Given the description of an element on the screen output the (x, y) to click on. 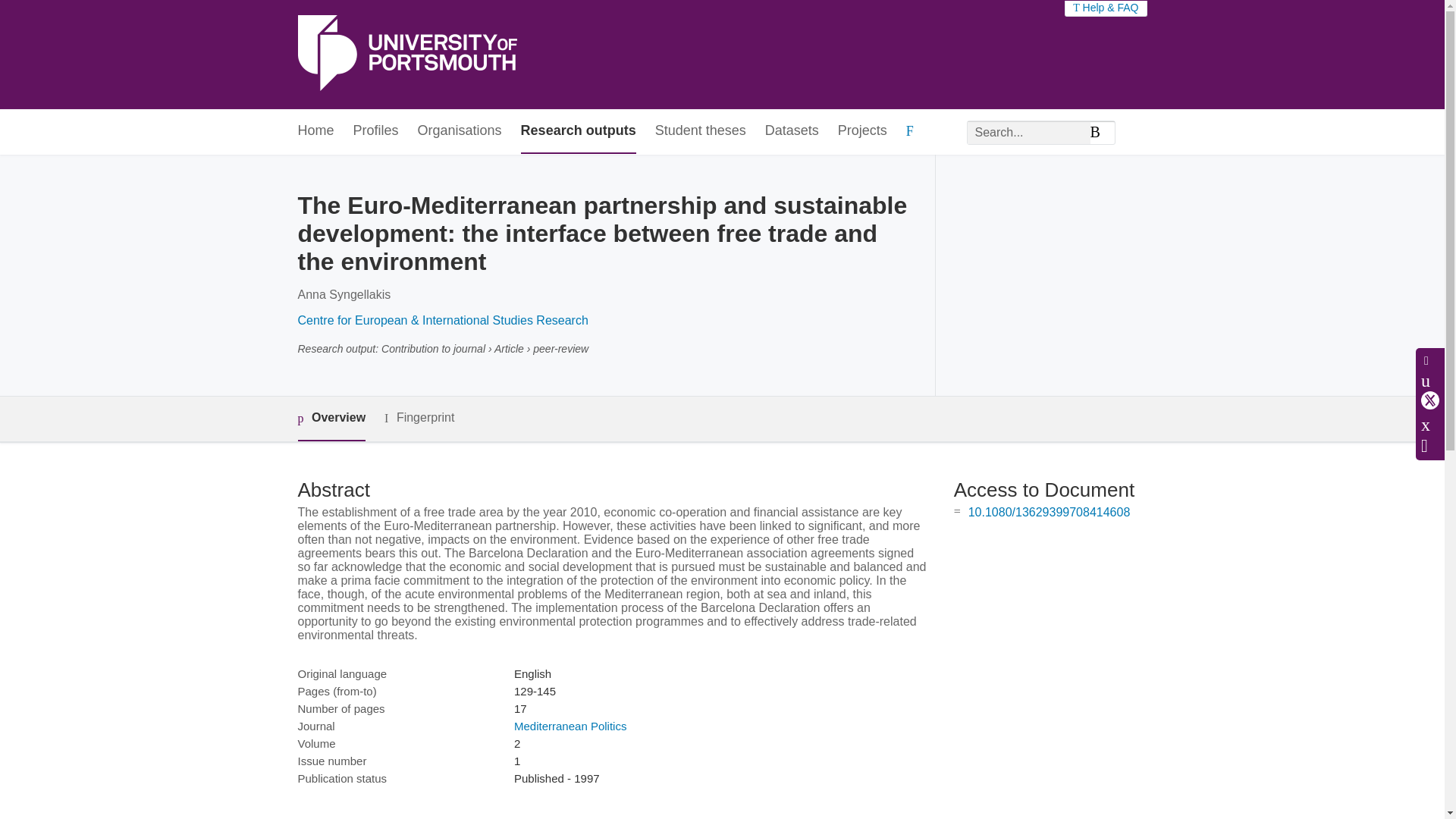
Organisations (459, 130)
Datasets (791, 130)
Profiles (375, 130)
Mediterranean Politics (569, 725)
Research outputs (578, 130)
University of Portsmouth Home (406, 54)
Student theses (700, 130)
Projects (862, 130)
Fingerprint (419, 417)
